Given the description of an element on the screen output the (x, y) to click on. 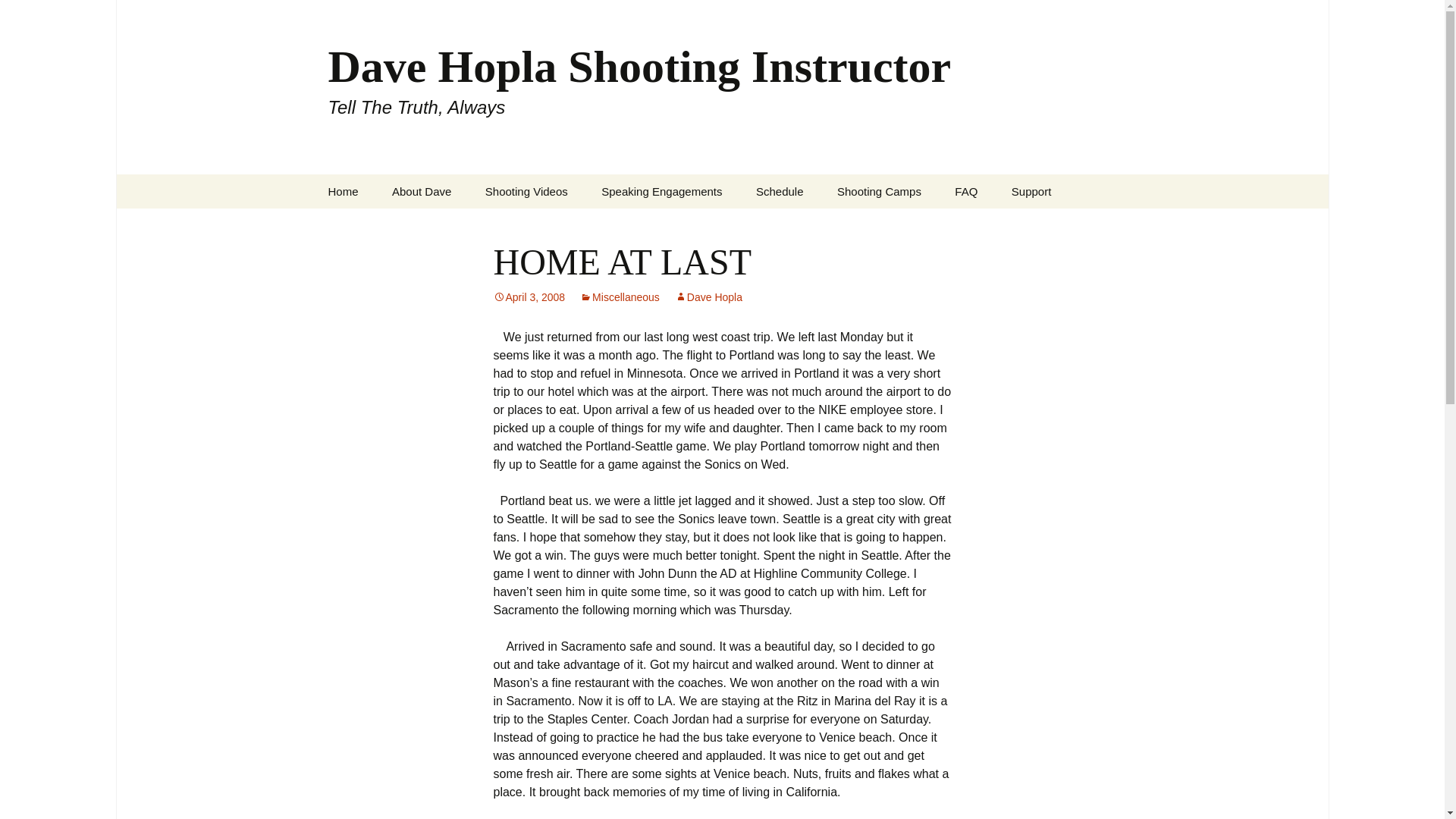
Dave Hopla (708, 297)
April 3, 2008 (528, 297)
About Dave (421, 191)
Shooting Videos (526, 191)
Support (1031, 191)
Shooting Camps (879, 191)
Permalink to HOME AT LAST (528, 297)
FAQ (965, 191)
Speaking Engagements (661, 191)
